Given the description of an element on the screen output the (x, y) to click on. 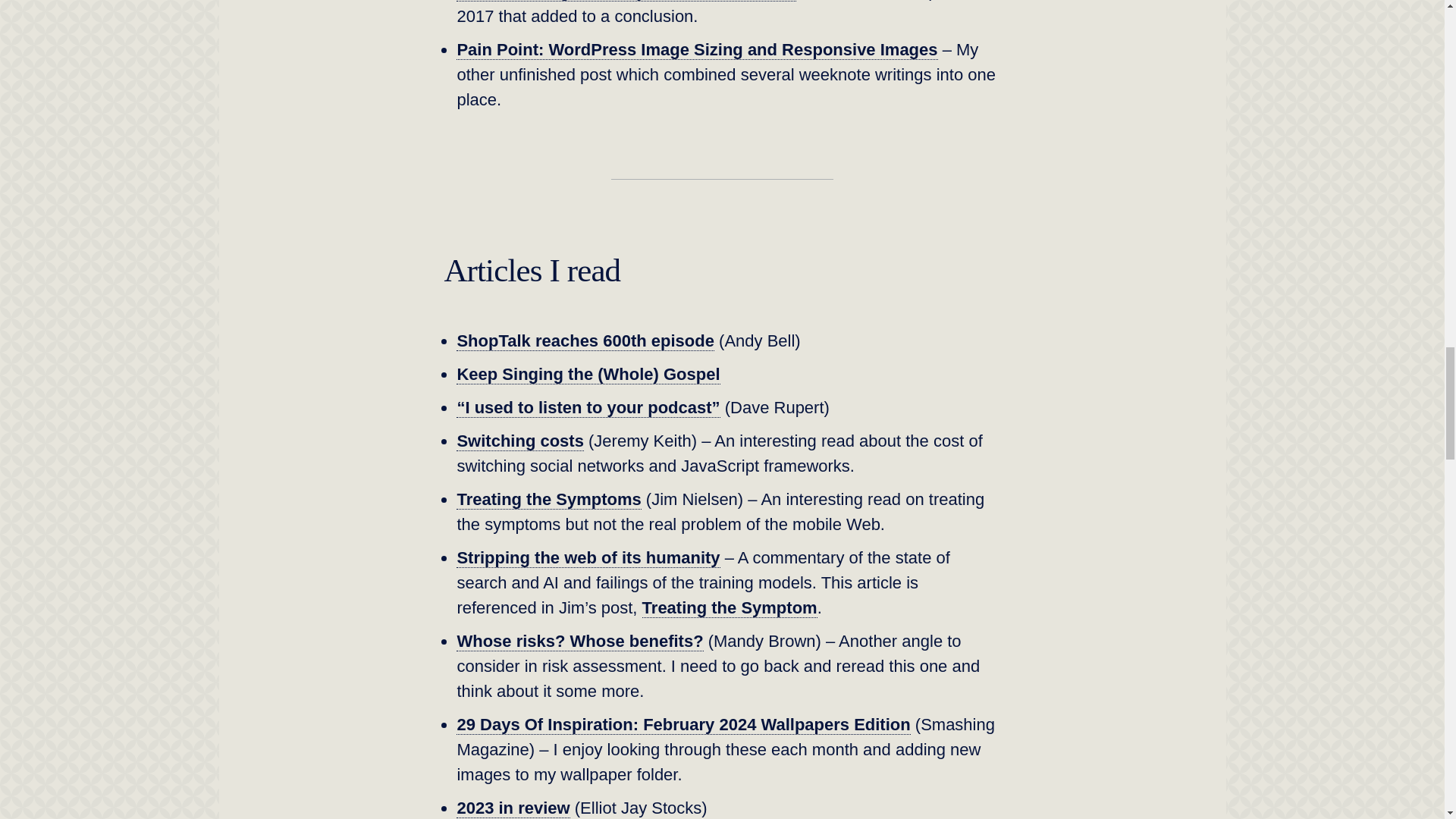
29 Days Of Inspiration: February 2024 Wallpapers Edition (683, 724)
Pain Point: WordPress Image Sizing and Responsive Images (697, 49)
Switching costs (520, 441)
Whose risks? Whose benefits? (580, 641)
Treating the Symptom (729, 608)
Treating the Symptoms (548, 499)
2023 in review (513, 808)
ShopTalk reaches 600th episode (585, 341)
Stripping the web of its humanity (588, 557)
